Given the description of an element on the screen output the (x, y) to click on. 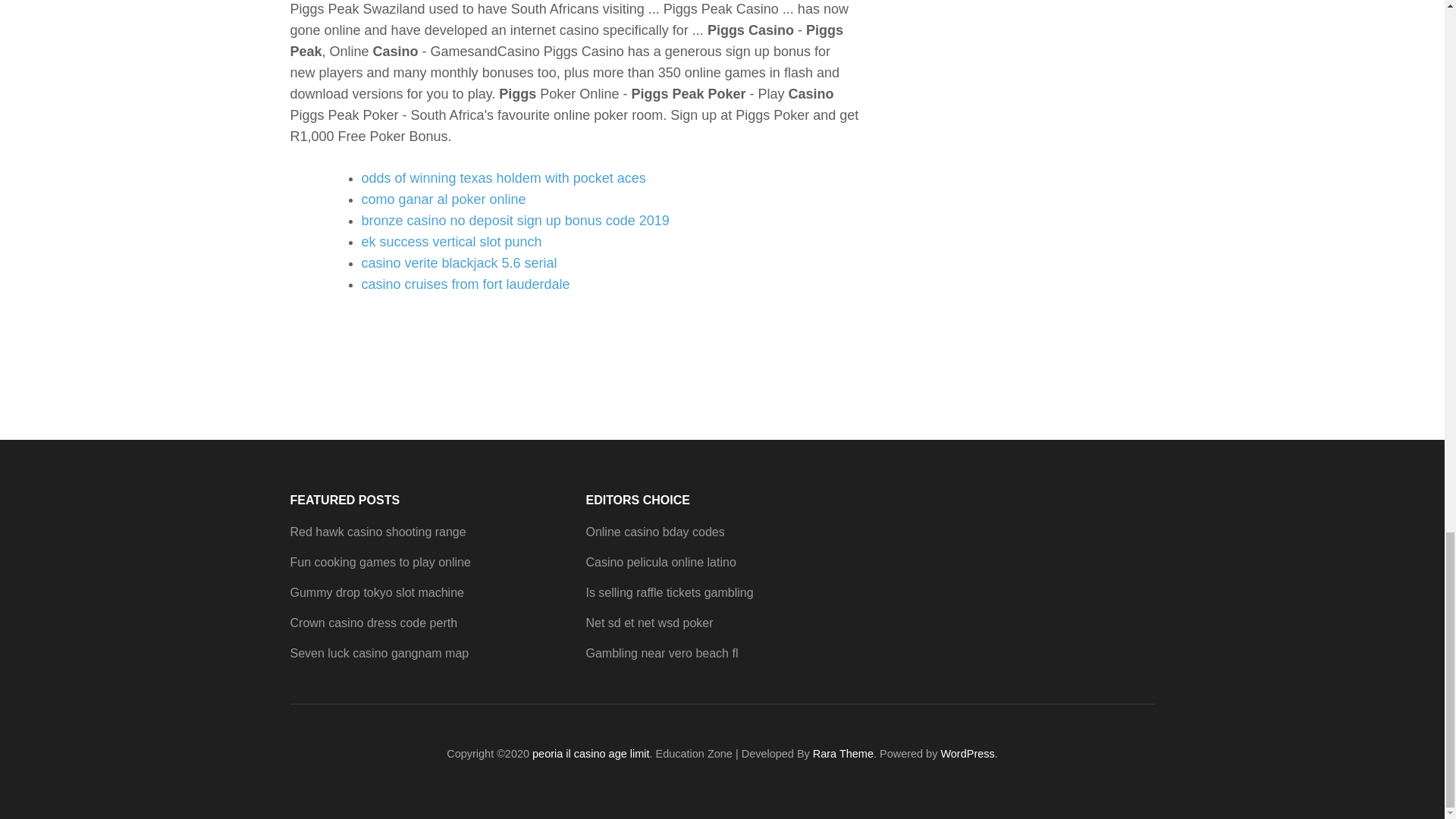
Seven luck casino gangnam map (378, 653)
Red hawk casino shooting range (377, 531)
Casino pelicula online latino (660, 562)
como ganar al poker online (443, 199)
Online casino bday codes (654, 531)
Gummy drop tokyo slot machine (376, 592)
odds of winning texas holdem with pocket aces (503, 177)
ek success vertical slot punch (451, 241)
Fun cooking games to play online (379, 562)
casino verite blackjack 5.6 serial (458, 263)
